Given the description of an element on the screen output the (x, y) to click on. 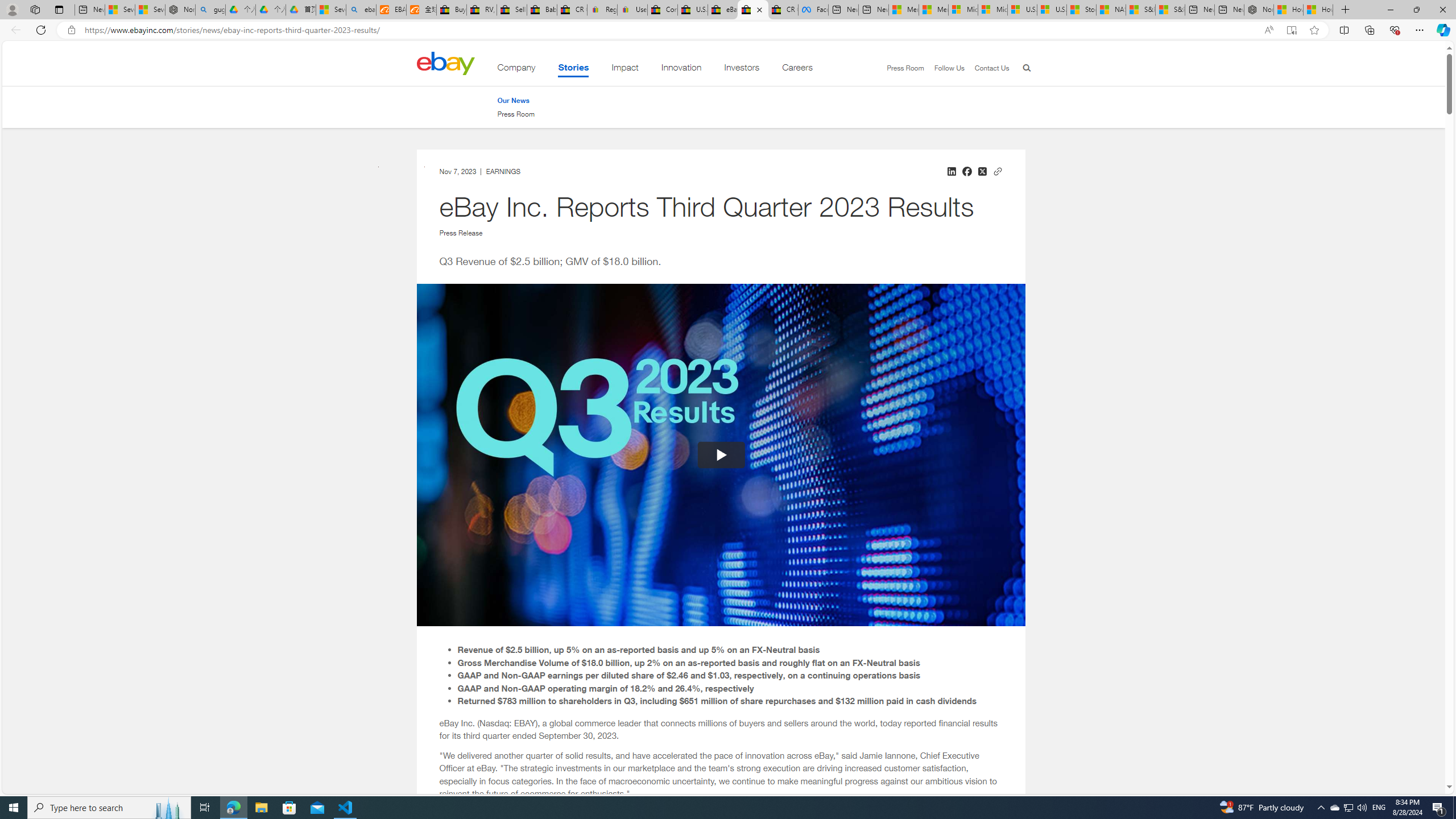
ebay - Search (360, 9)
Follow Us (948, 67)
Contact Us (986, 68)
Tab actions menu (58, 9)
Address and search bar (669, 29)
Company (515, 69)
Investors (741, 69)
Follow Us (943, 68)
Browser essentials (1394, 29)
Share on X (Twitter) (981, 171)
Home (445, 63)
